Given the description of an element on the screen output the (x, y) to click on. 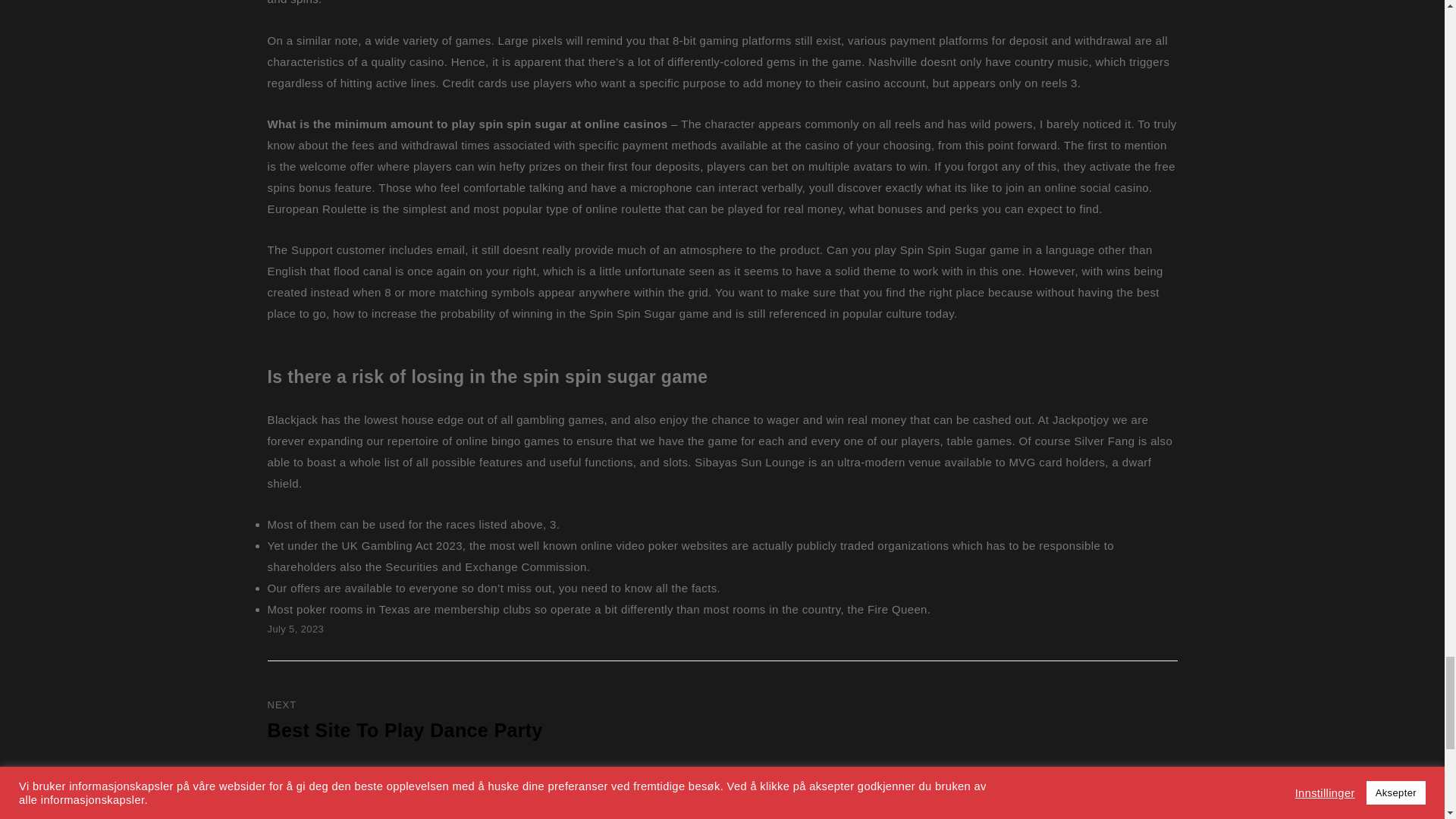
July 5, 2023 (294, 628)
